Given the description of an element on the screen output the (x, y) to click on. 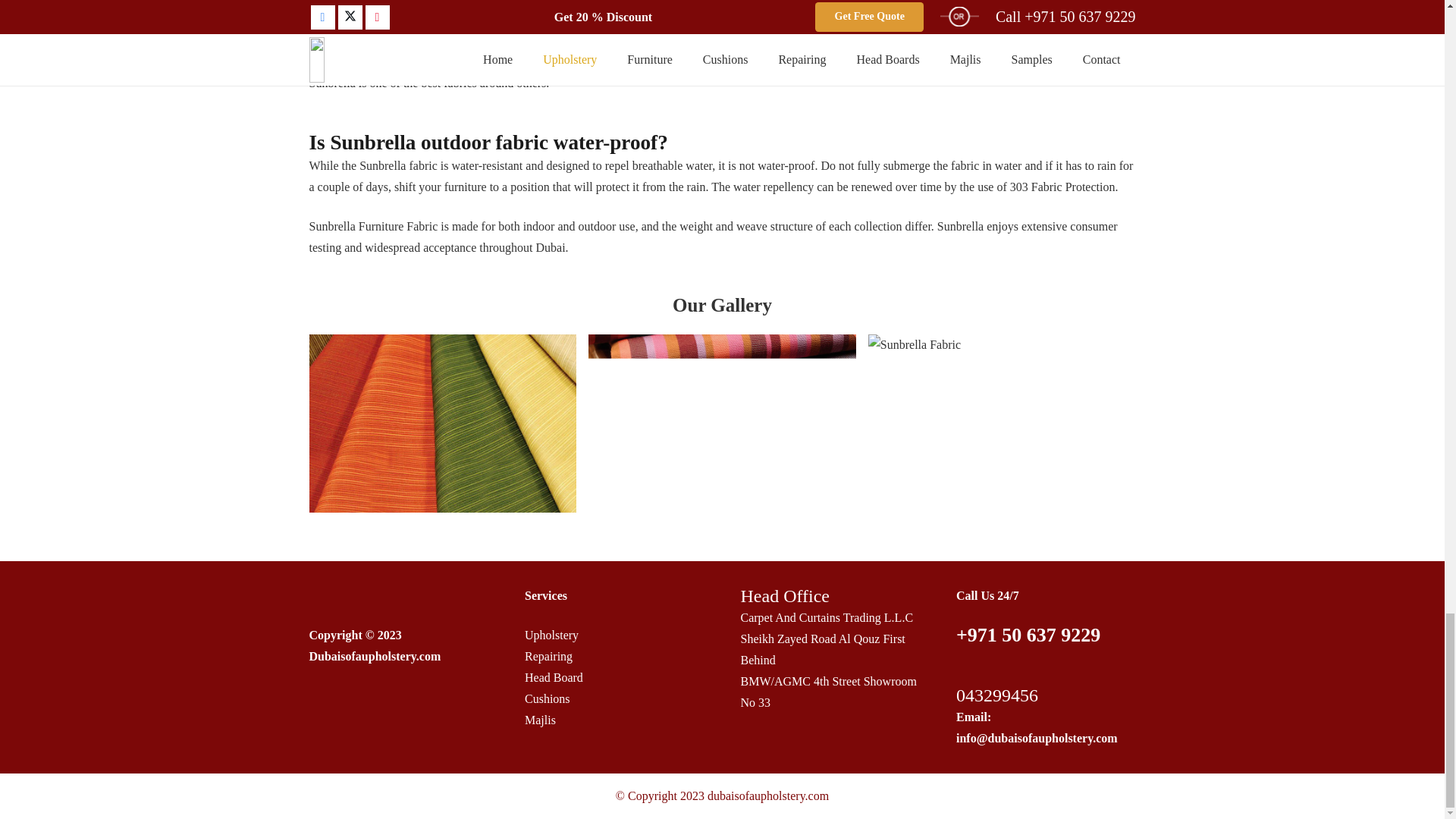
Sunbrella Fabric (1001, 423)
Sunbrella Fabric (722, 423)
Sunbrella Fabric (442, 423)
